Given the description of an element on the screen output the (x, y) to click on. 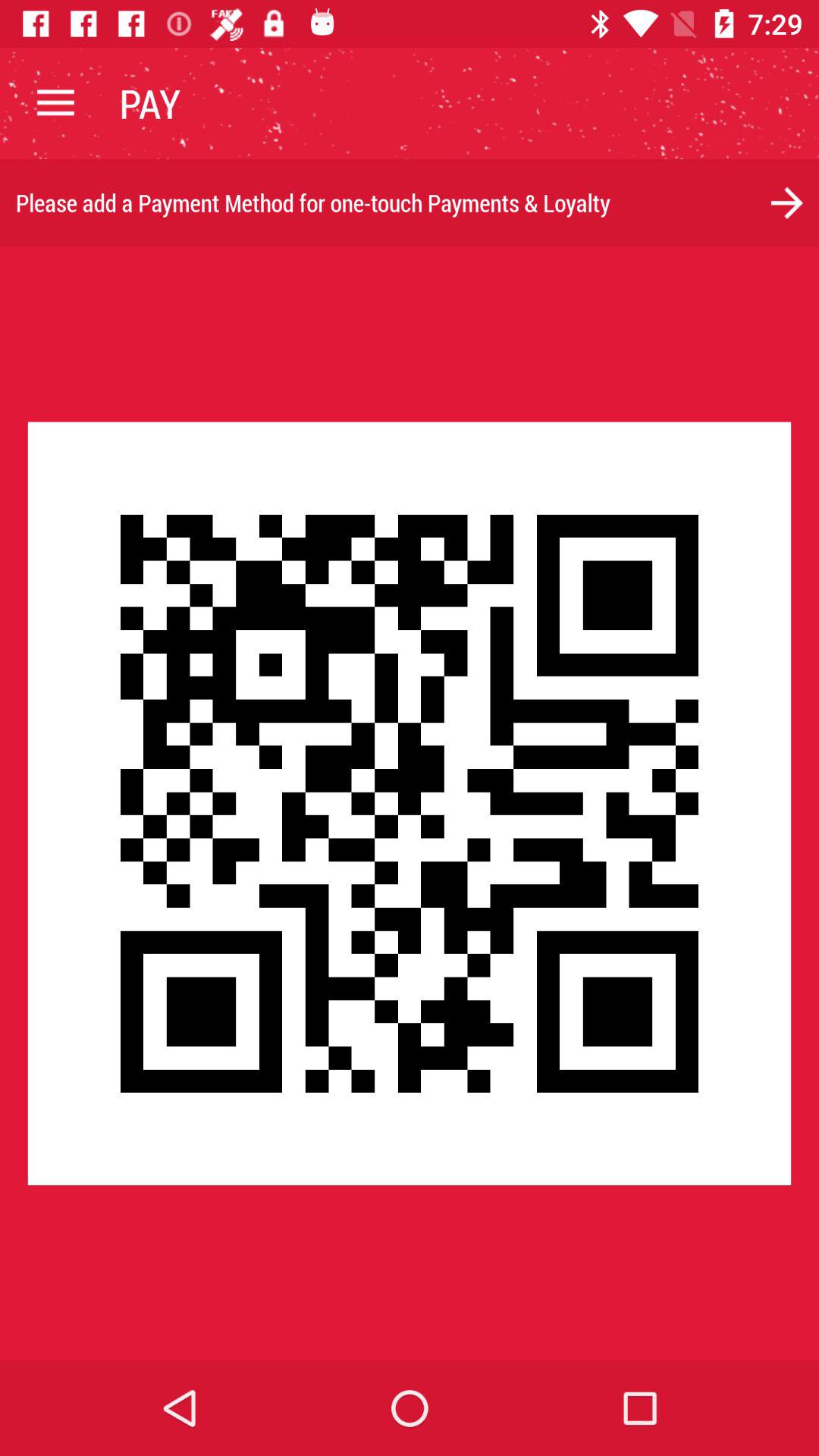
jump until please add a item (409, 202)
